Given the description of an element on the screen output the (x, y) to click on. 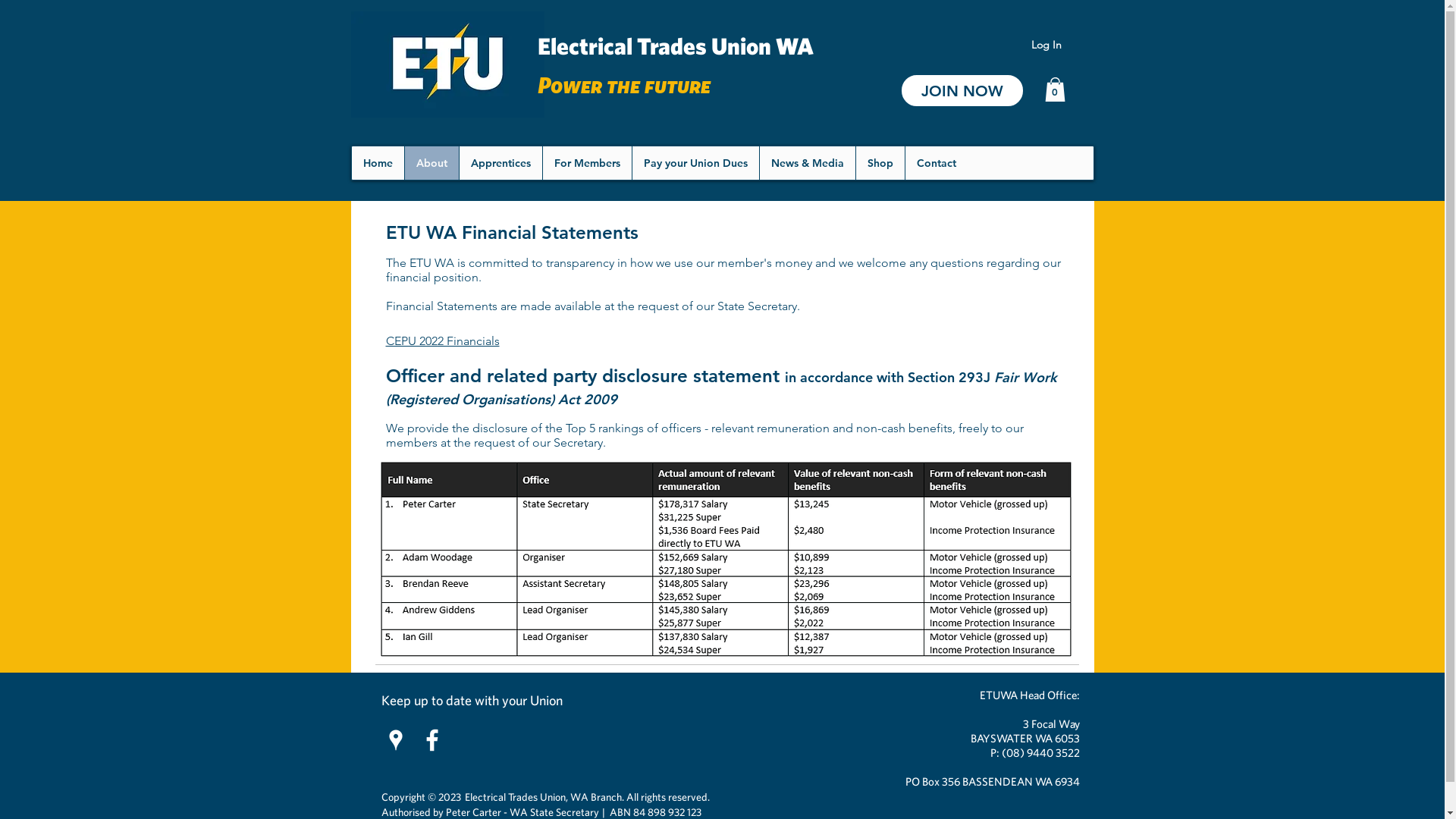
Home Element type: text (377, 162)
Contact Element type: text (934, 162)
Pay your Union Dues Element type: text (694, 162)
CEPU 2022 Financials Element type: text (441, 340)
JOIN NOW Element type: text (961, 90)
News & Media Element type: text (806, 162)
About Element type: text (430, 162)
Top 5 Officers-01.png Element type: hover (726, 559)
Shop Element type: text (879, 162)
Log In Element type: text (1046, 45)
0 Element type: text (1054, 89)
